Given the description of an element on the screen output the (x, y) to click on. 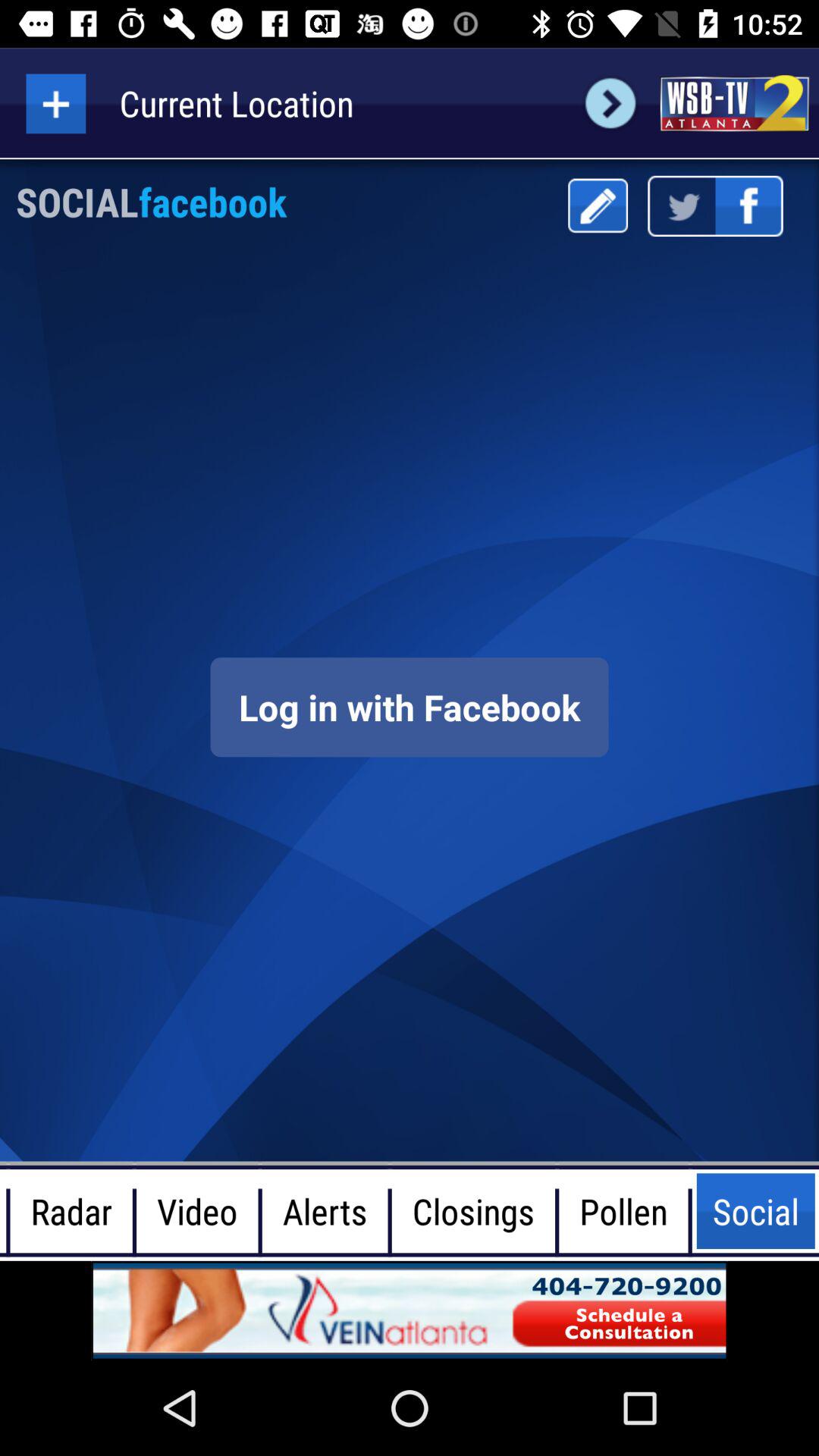
click on log in with facebook (409, 707)
select the text next to pollen (755, 1210)
click on twitter icon (681, 205)
select the black line between pollen and social (689, 1210)
